Given the description of an element on the screen output the (x, y) to click on. 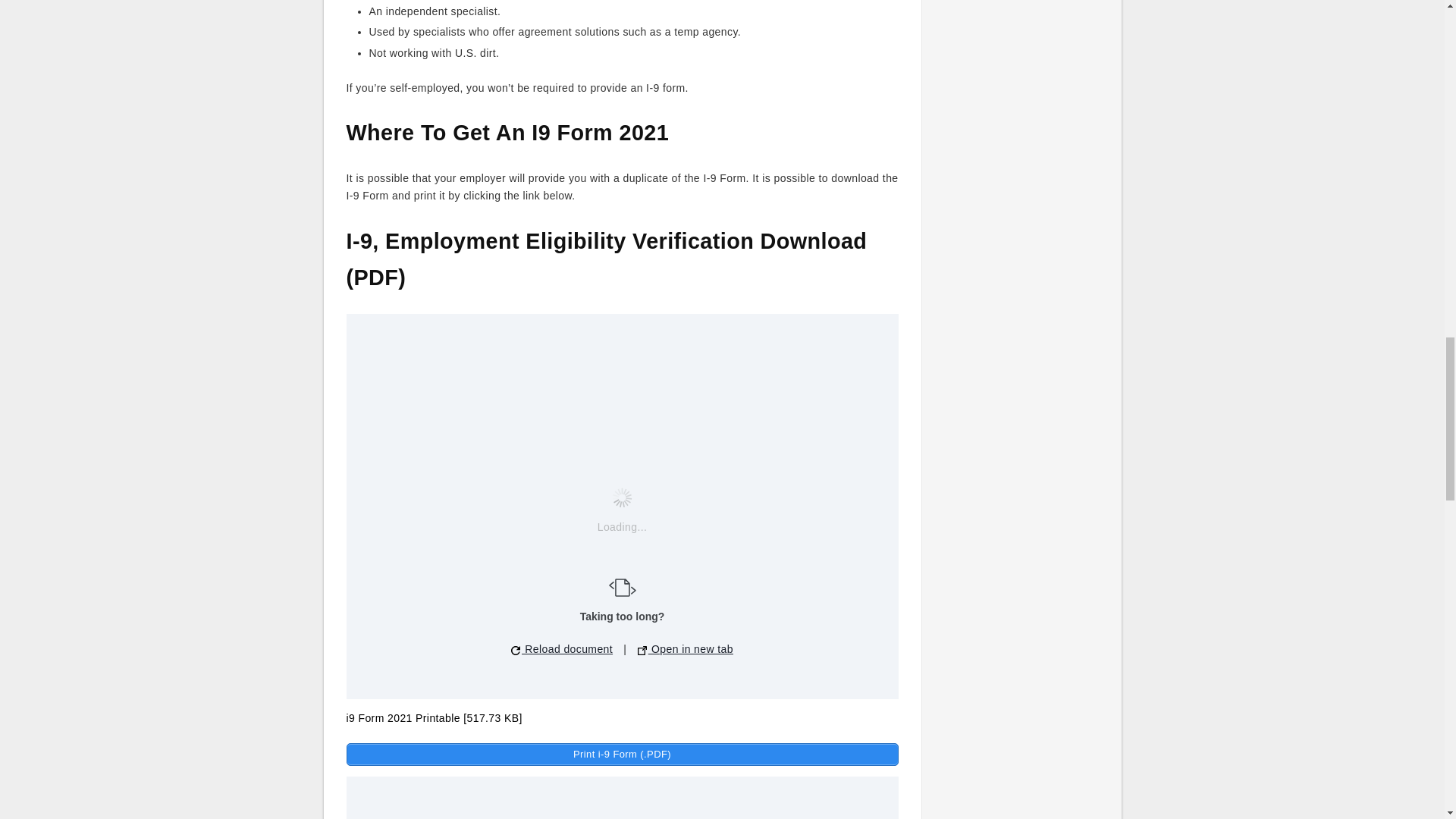
Embedded Document (622, 797)
reload (515, 650)
Open in new tab (685, 649)
loading (622, 497)
EAD logo (621, 587)
open (641, 650)
